Given the description of an element on the screen output the (x, y) to click on. 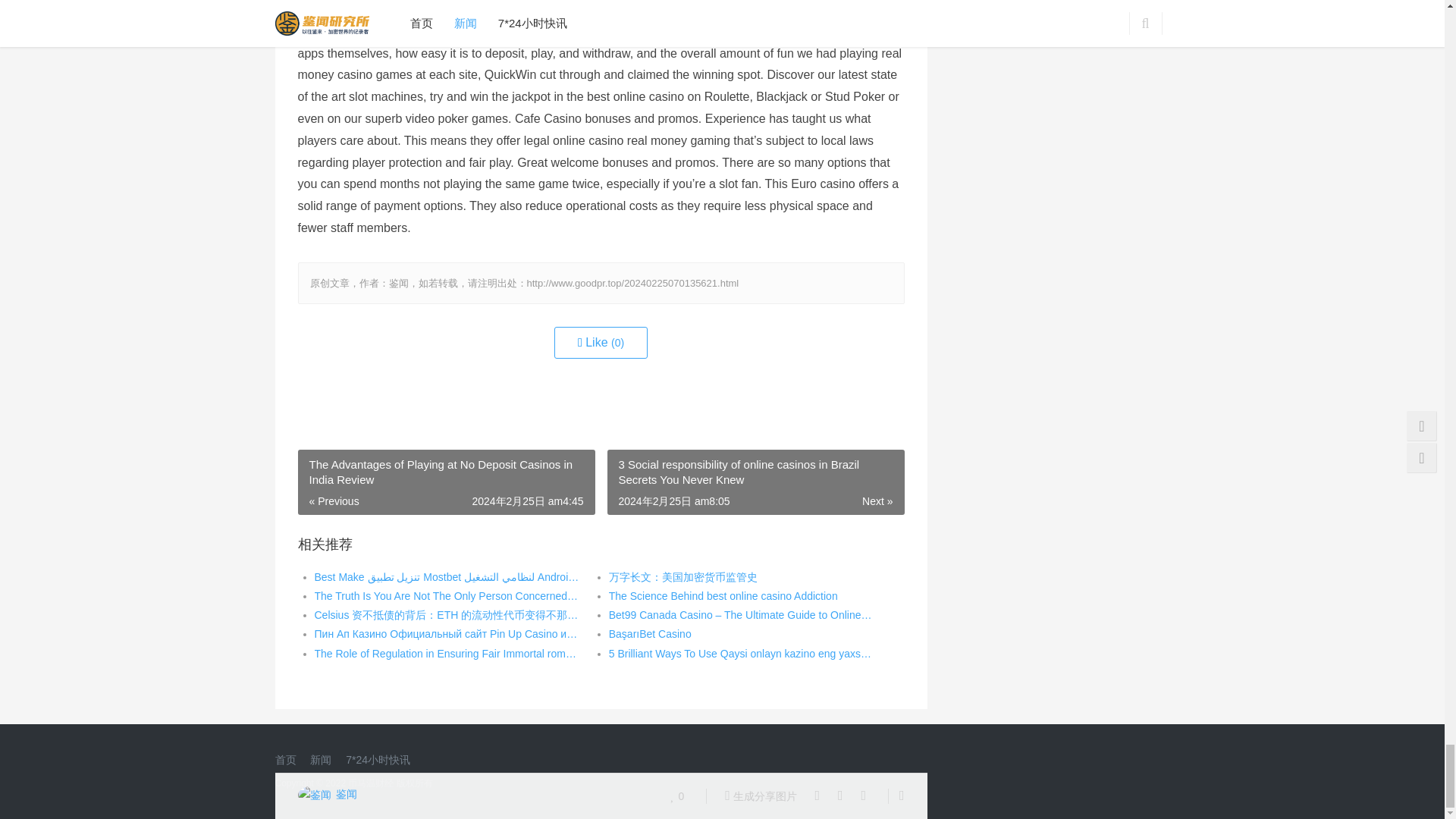
The Science Behind best online casino Addiction (723, 596)
